Given the description of an element on the screen output the (x, y) to click on. 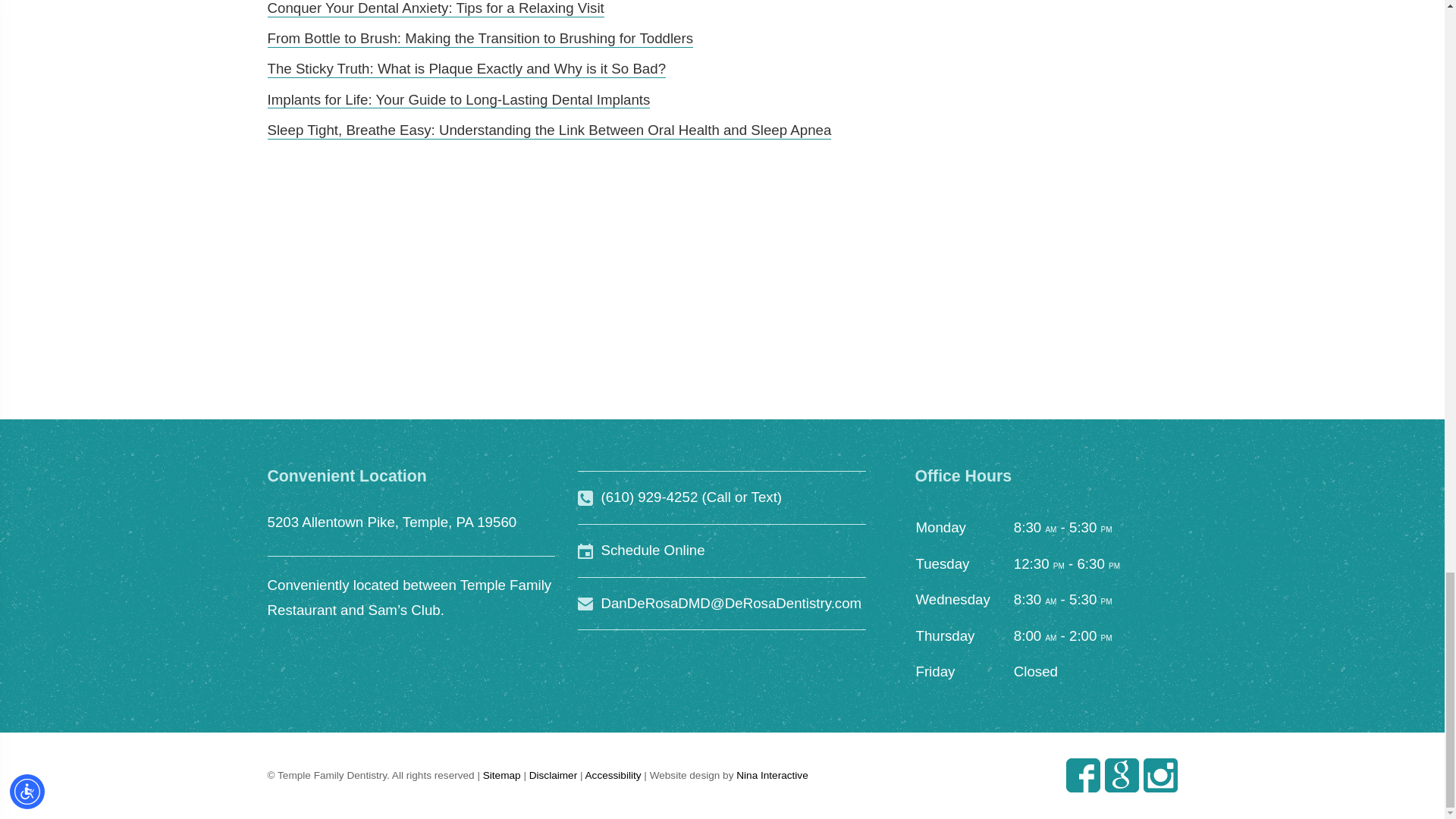
Find us on Google Maps (1120, 775)
Like us on Facebook (1082, 775)
Find us on Instagram (1159, 775)
